Given the description of an element on the screen output the (x, y) to click on. 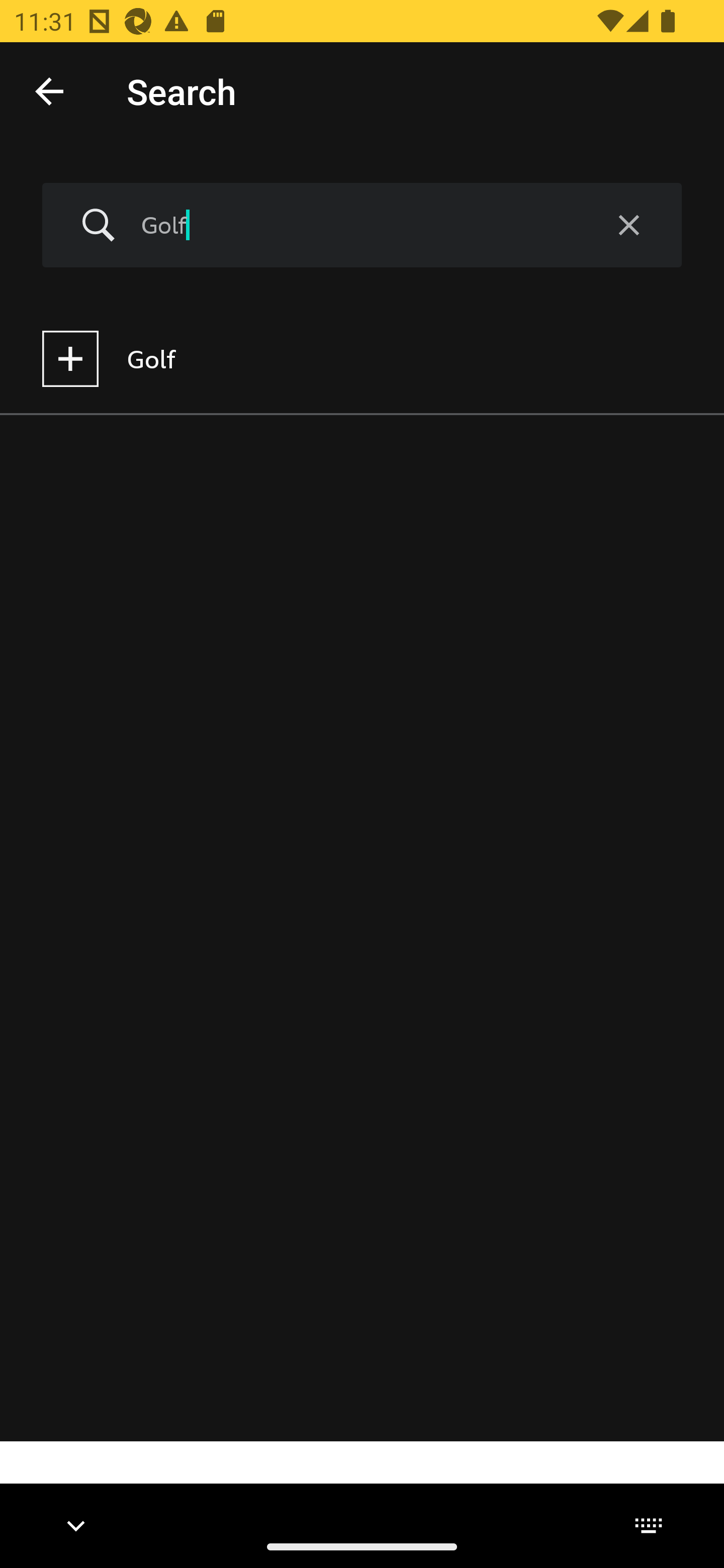
Done (49, 90)
Golf Clear query (361, 225)
Clear query (628, 225)
Golf (358, 224)
Golf (362, 358)
